Given the description of an element on the screen output the (x, y) to click on. 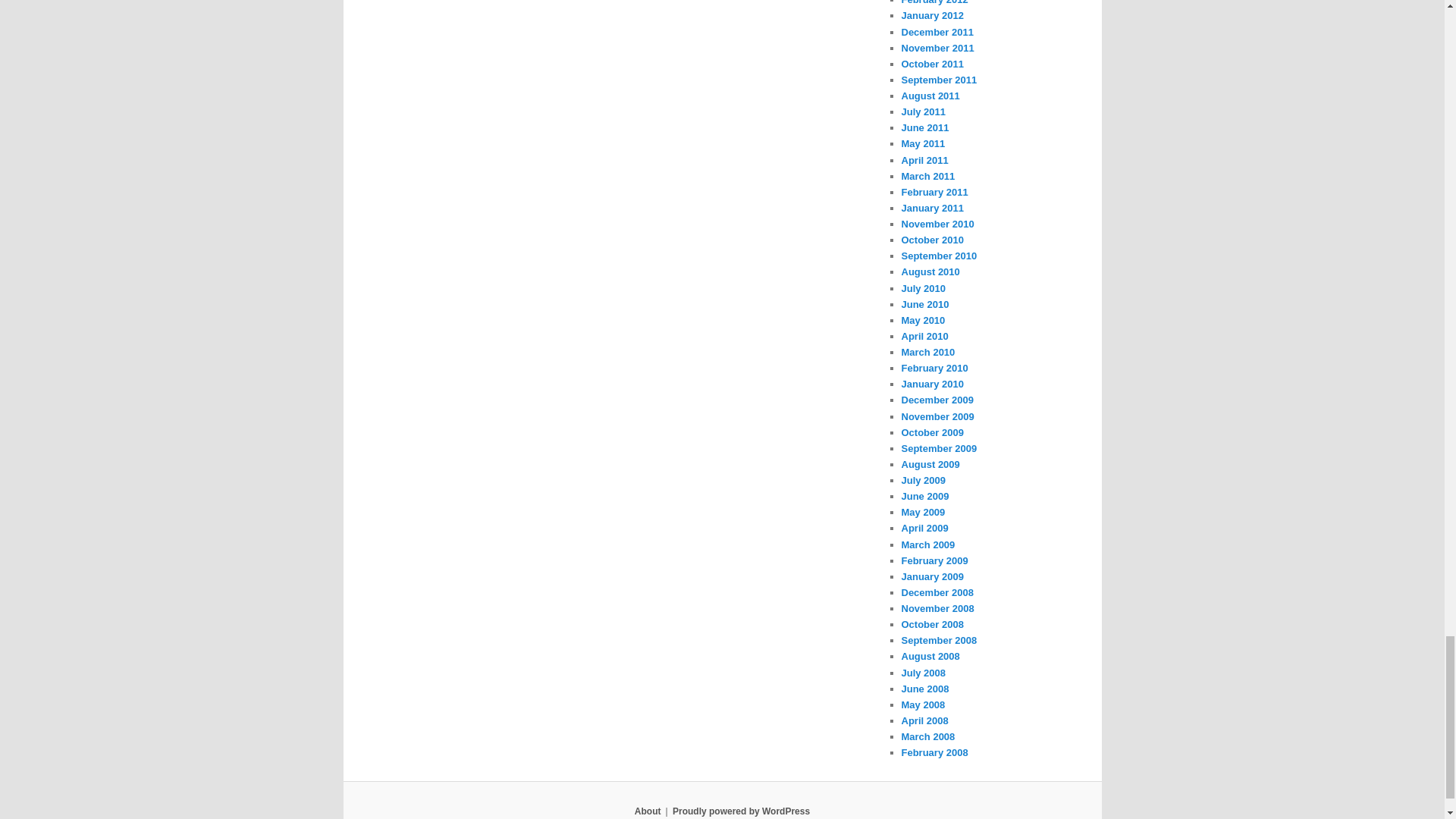
Semantic Personal Publishing Platform (740, 810)
